Given the description of an element on the screen output the (x, y) to click on. 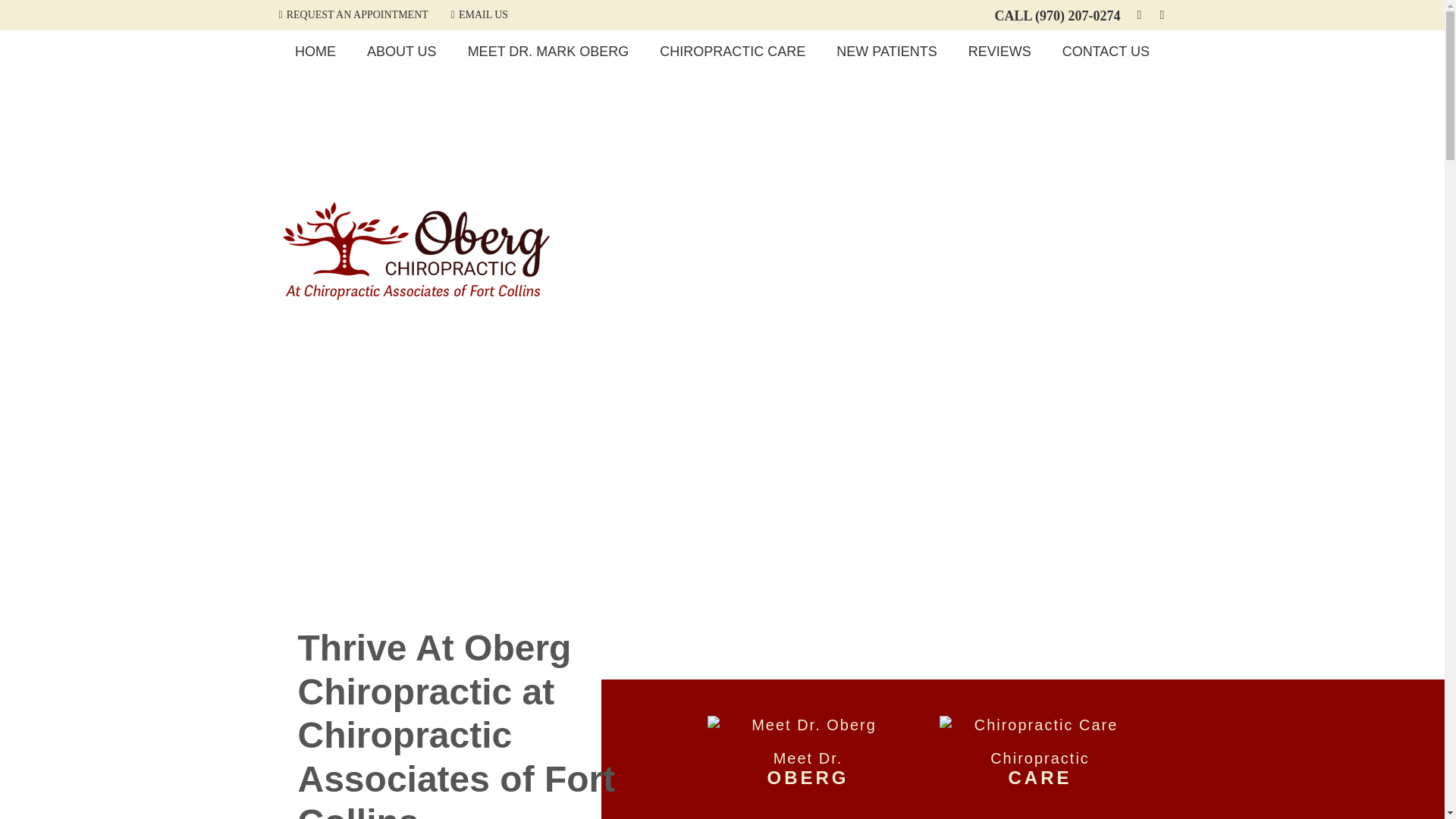
HOME (1039, 749)
REVIEWS (315, 51)
REQUEST AN APPOINTMENT (999, 51)
Contact (352, 14)
CONTACT US (479, 14)
NEW PATIENTS (1105, 51)
MEET DR. MARK OBERG (886, 51)
Facebook Social Button (548, 51)
